Given the description of an element on the screen output the (x, y) to click on. 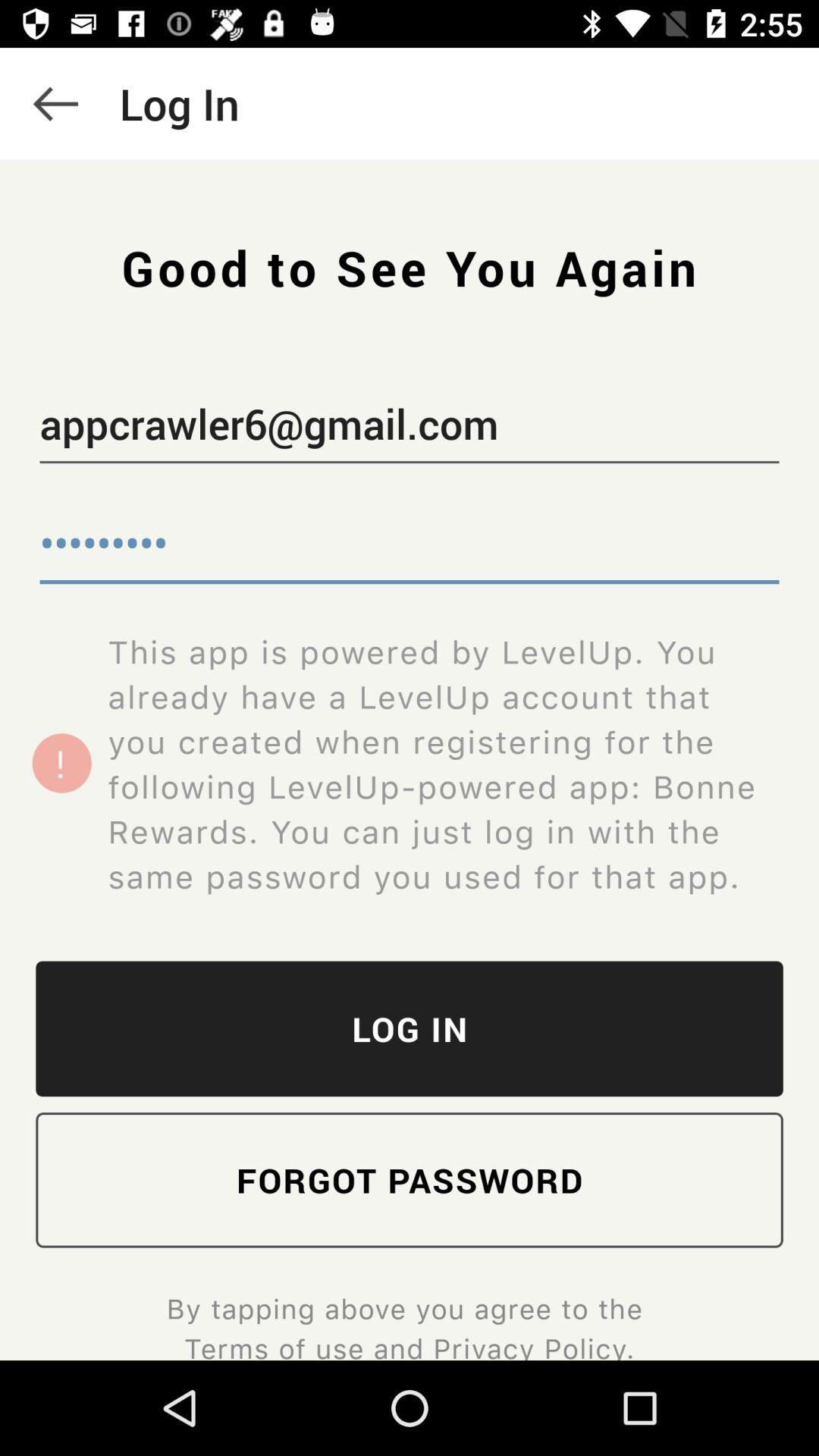
click icon below the good to see icon (409, 426)
